Given the description of an element on the screen output the (x, y) to click on. 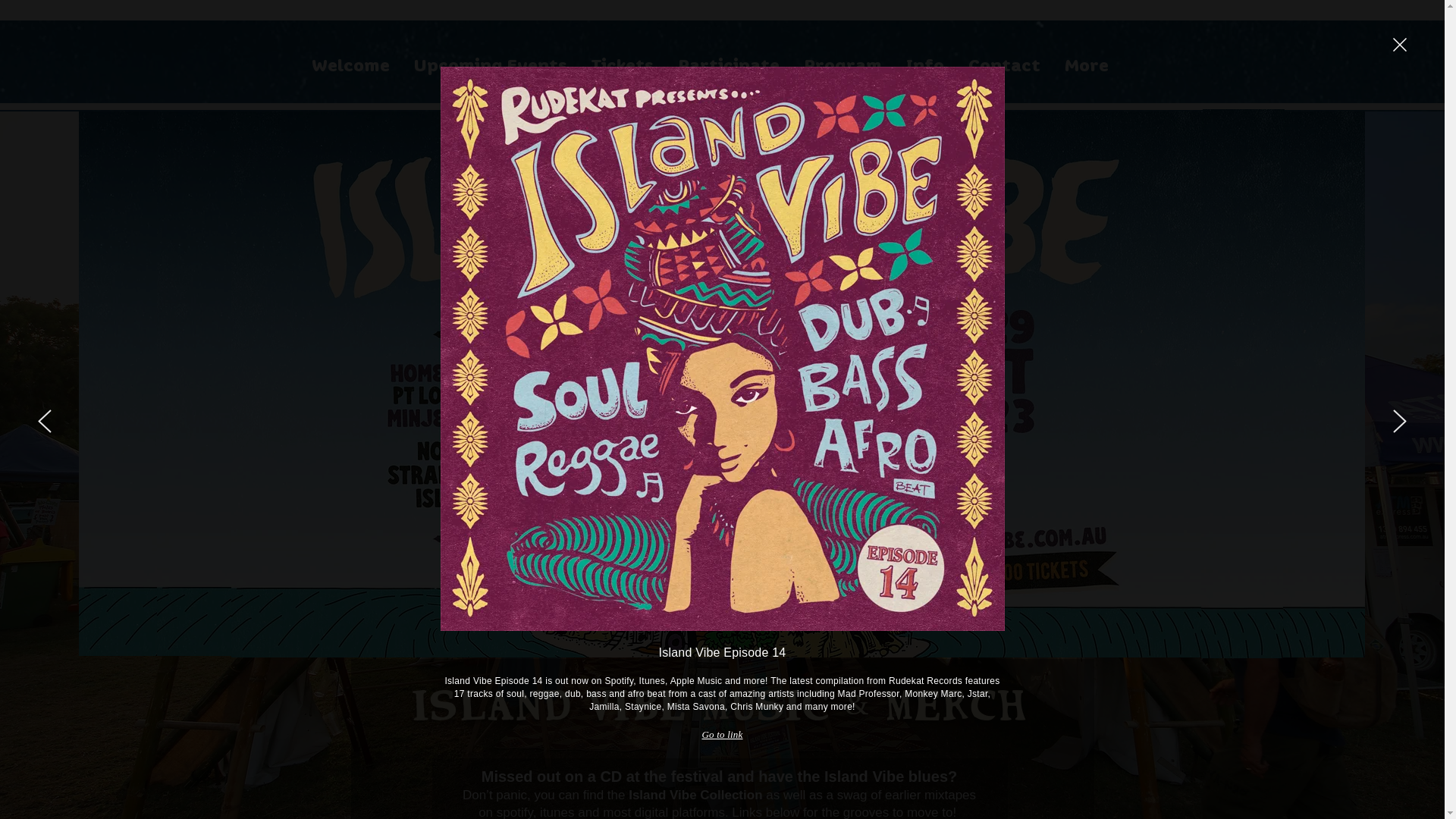
Participate Element type: text (728, 64)
Welcome Element type: text (349, 64)
IslandVibe_FB-Event-Banner_2023 (1).jpg Element type: hover (715, 383)
Program Element type: text (842, 64)
Go to link Element type: text (721, 734)
IslandVibe_FB-Event-Banner_2023 (1).jpg Element type: hover (196, 382)
Upcoming Events Element type: text (490, 64)
Info Element type: text (924, 64)
IslandVibe_FB-Event-Banner_2023 (1).jpg Element type: hover (1243, 382)
IslandVibe_FB-Event-Banner_2023 (1).jpg Element type: hover (1324, 383)
Contact Element type: text (1003, 64)
Tickets Element type: text (622, 64)
IslandVibe_FB-Event-Banner_2023 (1).jpg Element type: hover (1242, 385)
IslandVibe_FB-Event-Banner_2023 (1).jpg Element type: hover (118, 382)
